Given the description of an element on the screen output the (x, y) to click on. 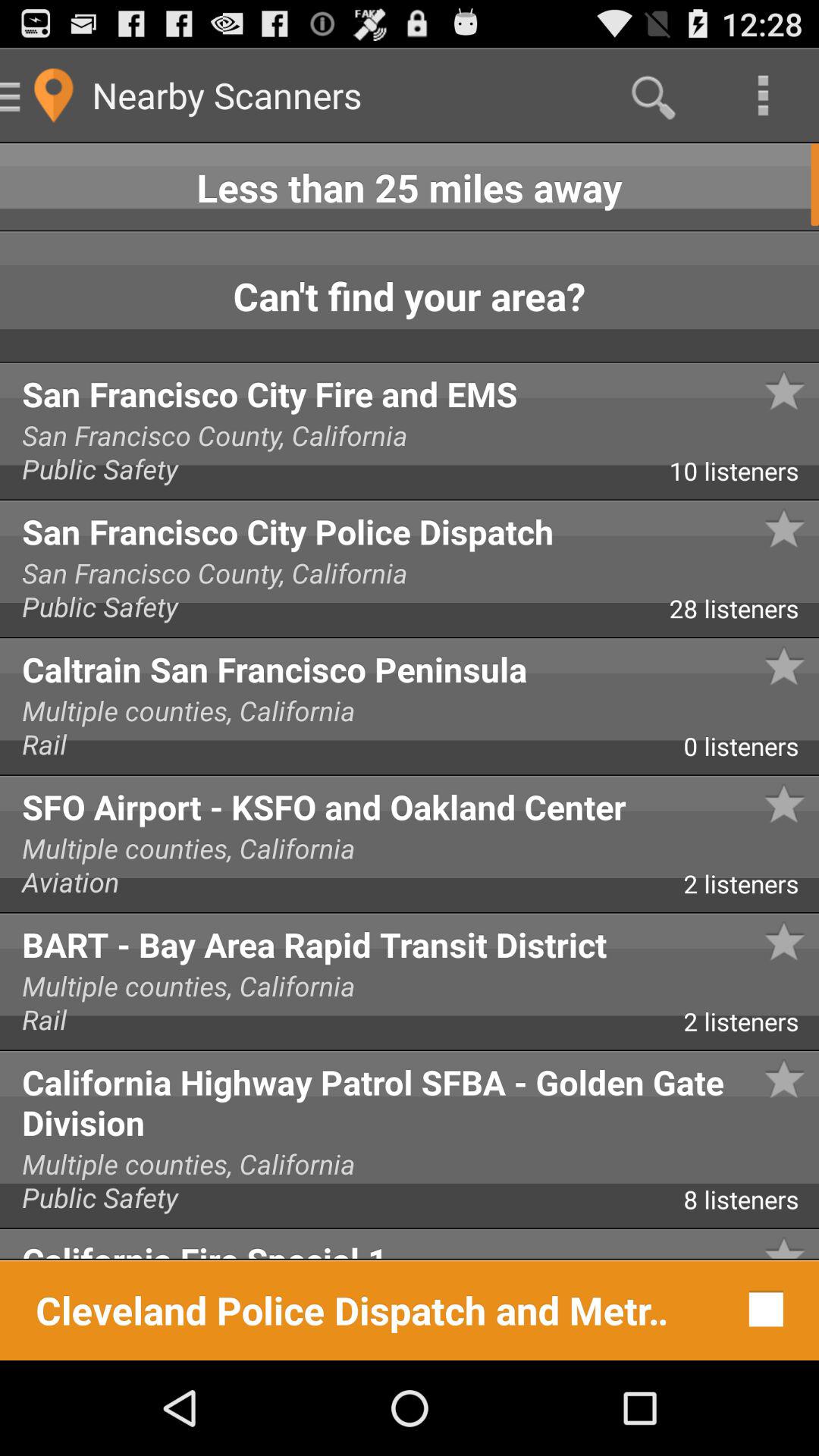
click the app above san francisco city item (813, 337)
